Given the description of an element on the screen output the (x, y) to click on. 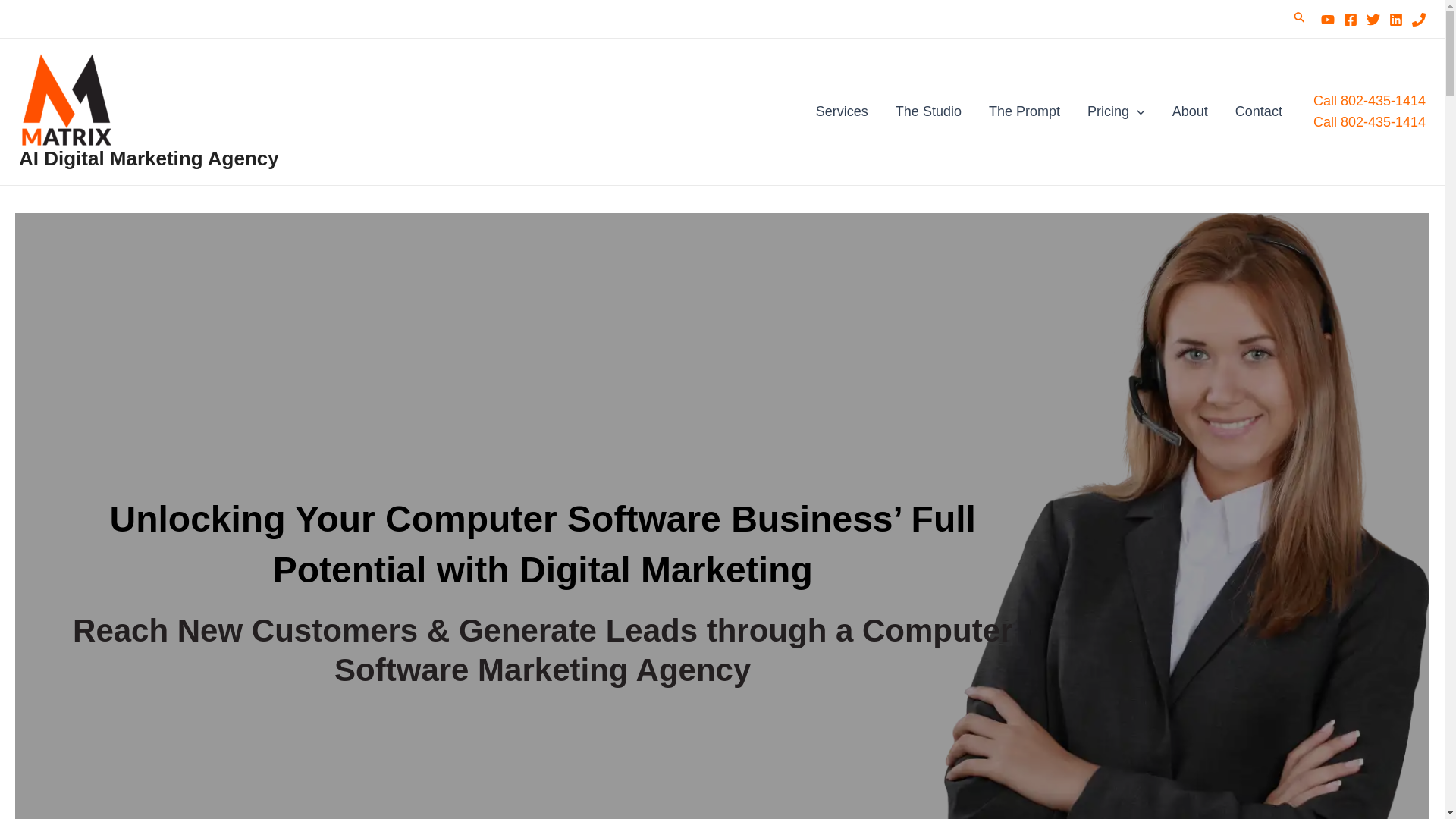
Contact (1258, 111)
Call 802-435-1414 (1369, 121)
About (1189, 111)
AI Digital Marketing Agency (148, 158)
Pricing (1116, 111)
Services (842, 111)
Call 802-435-1414 (1369, 110)
The Studio (928, 111)
The Prompt (1024, 111)
